Given the description of an element on the screen output the (x, y) to click on. 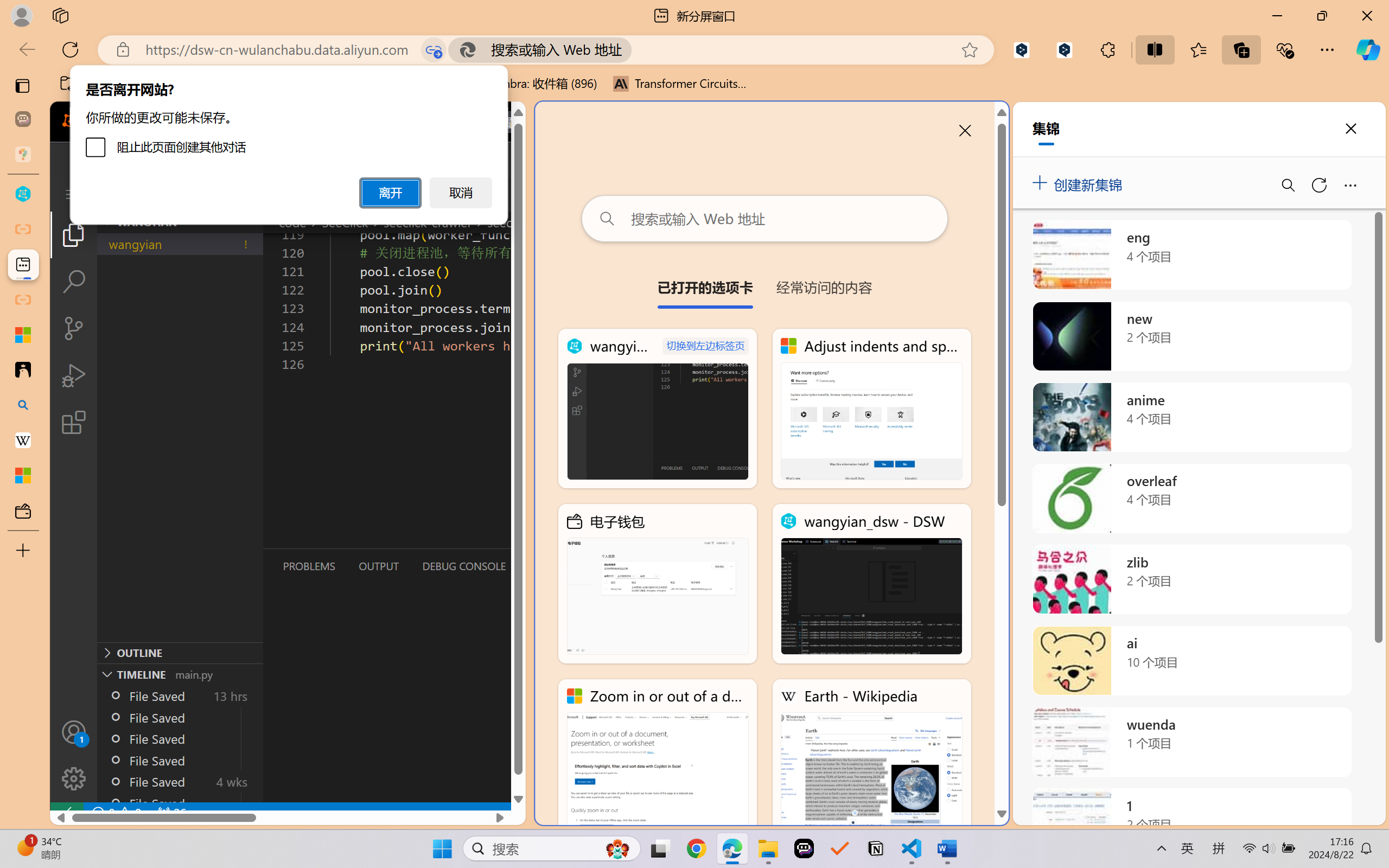
Transformer Circuits Thread (680, 83)
No Problems (115, 812)
Google Chrome (696, 848)
